Given the description of an element on the screen output the (x, y) to click on. 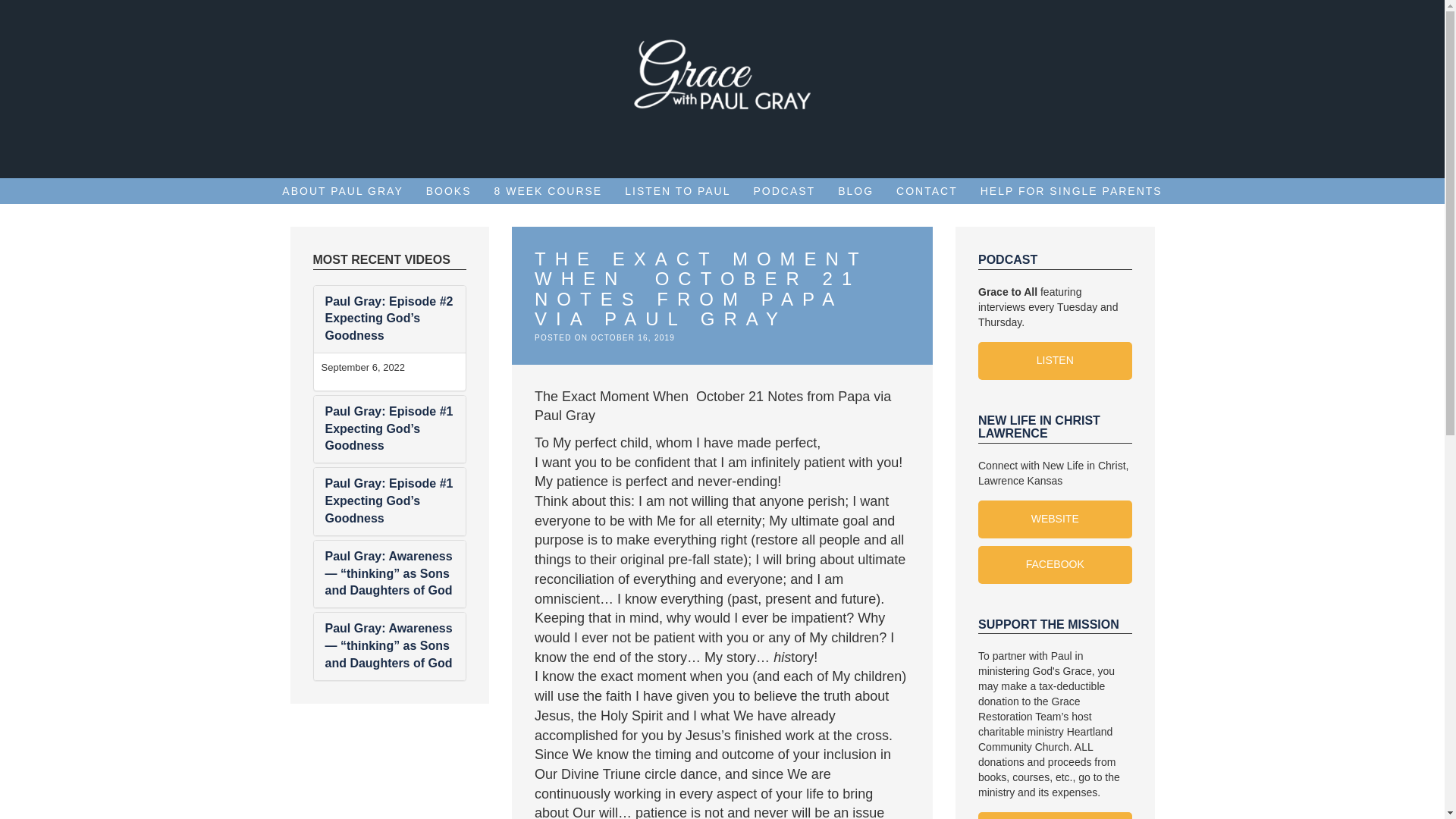
OCTOBER 16, 2019 (633, 337)
DONATE (1055, 815)
HELP FOR SINGLE PARENTS (1070, 190)
CONTACT (927, 190)
FACEBOOK (1055, 564)
WEBSITE (1055, 519)
BOOKS (448, 190)
BLOG (855, 190)
8 WEEK COURSE (548, 190)
LISTEN (1055, 361)
